Given the description of an element on the screen output the (x, y) to click on. 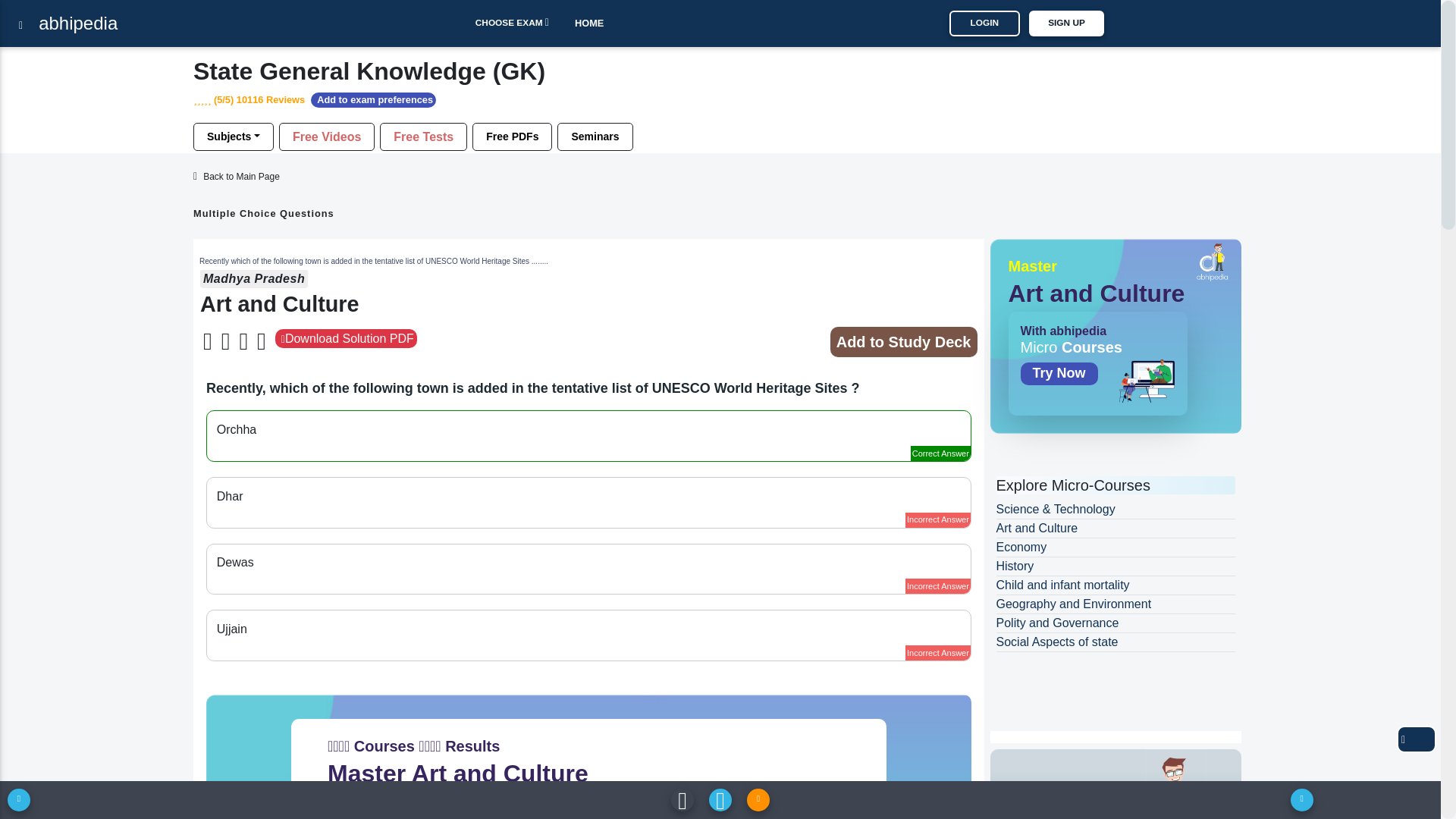
Go to my cart (720, 23)
Printer Friendly and PDF (1415, 738)
